Given the description of an element on the screen output the (x, y) to click on. 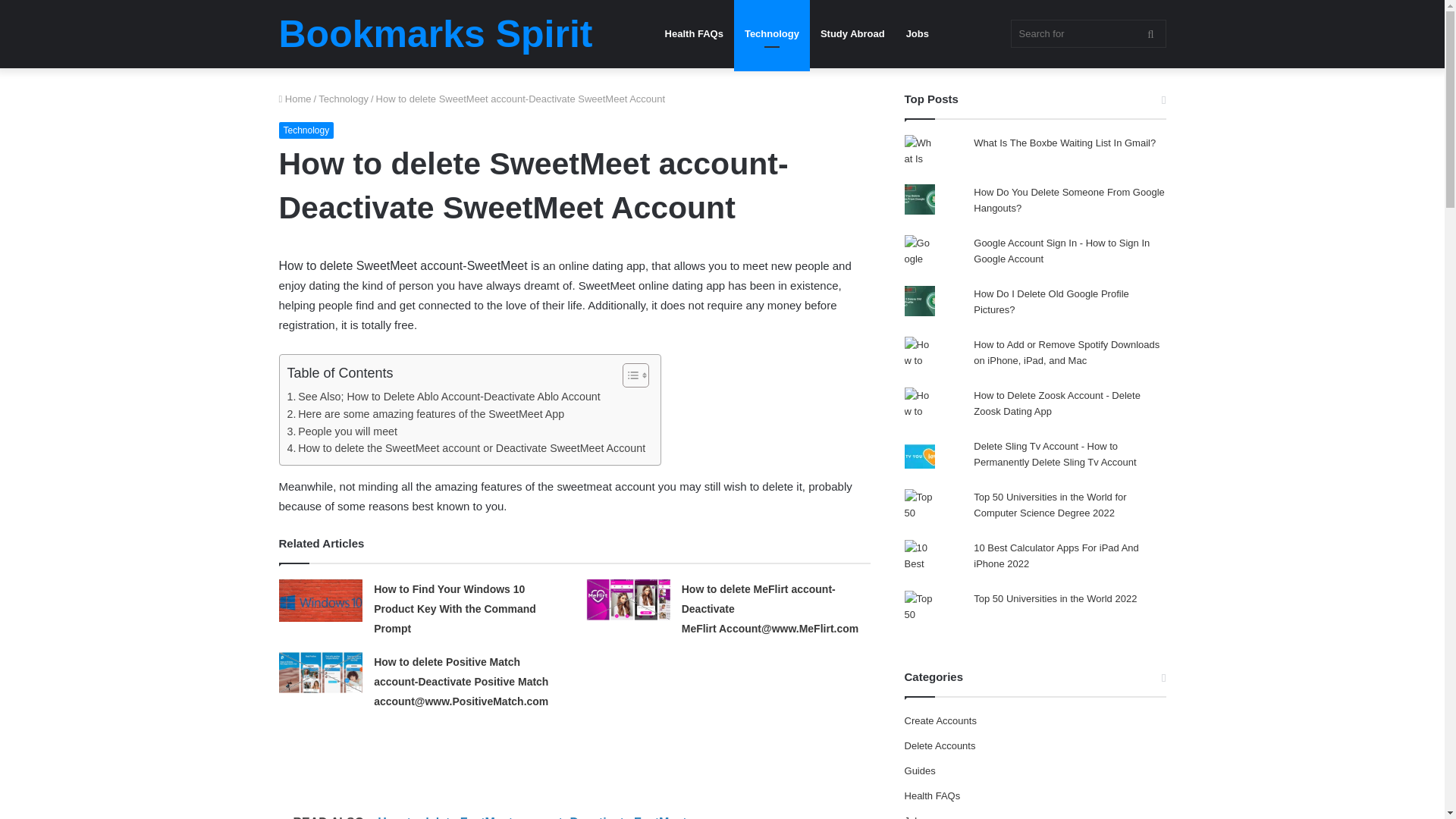
Bookmarks Spirit (435, 34)
Health FAQs (693, 33)
Study Abroad (852, 33)
Search for (1088, 33)
People you will meet (341, 431)
Here are some amazing features of the SweetMeet App (425, 414)
Technology (343, 98)
